Given the description of an element on the screen output the (x, y) to click on. 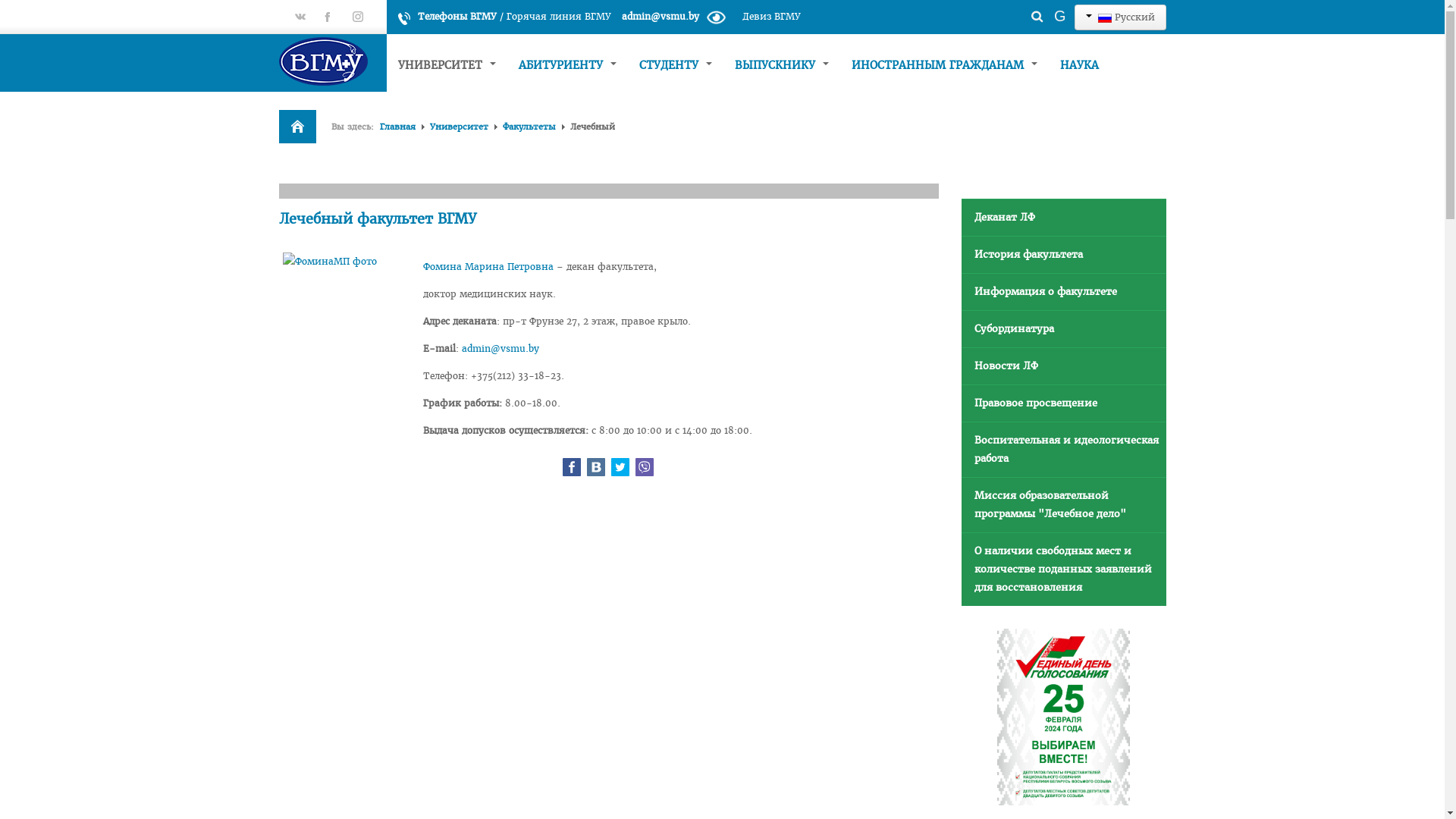
gp Element type: text (299, 17)
G Element type: text (1059, 15)
admin@vsmu.by Element type: text (499, 348)
fb Element type: text (327, 17)
FaceBook Element type: hover (571, 467)
Viber Element type: hover (644, 467)
Twitter Element type: hover (620, 467)
admin@vsmu.by Element type: text (660, 15)
tt Element type: text (357, 17)
